Given the description of an element on the screen output the (x, y) to click on. 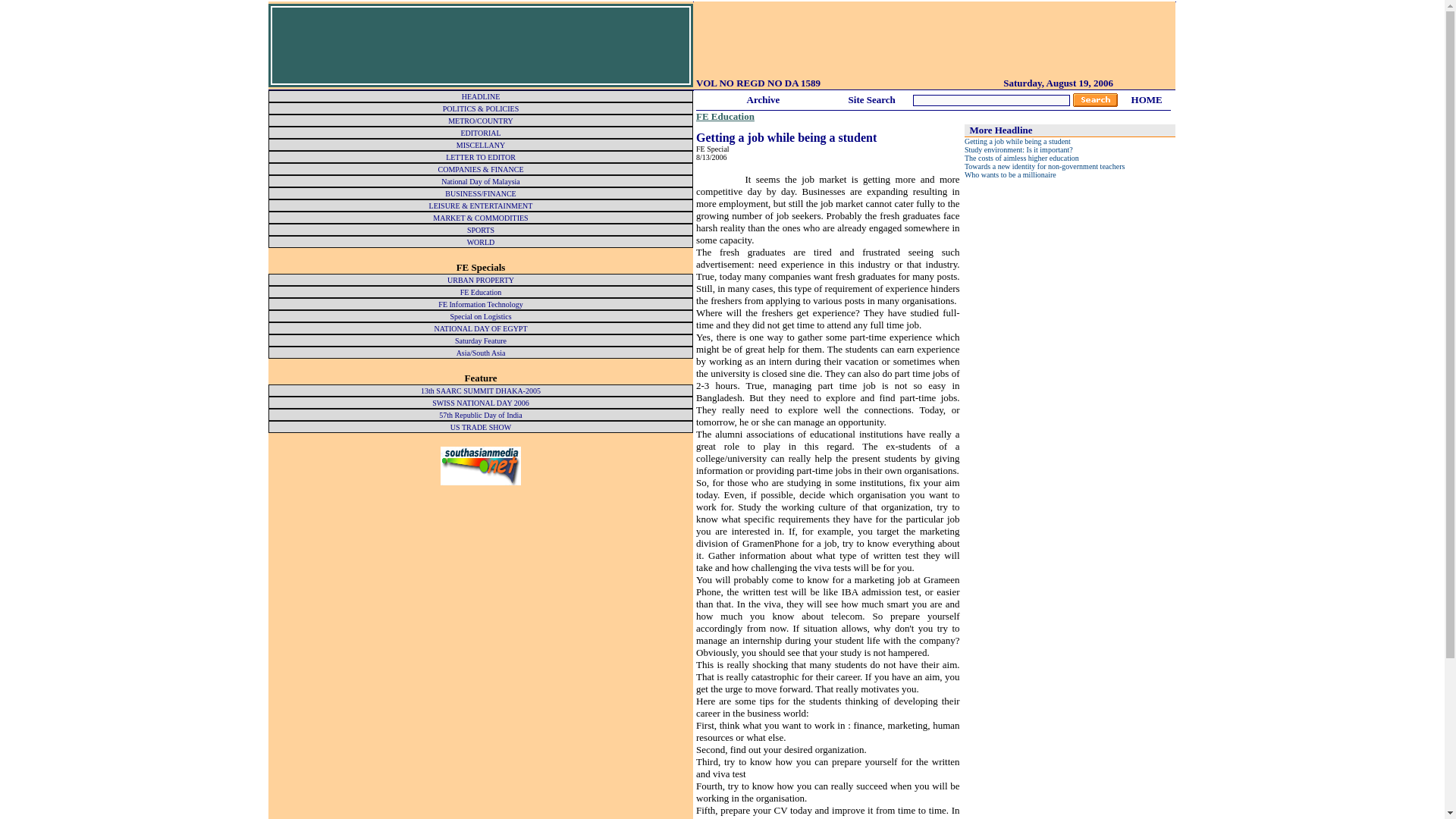
HEADLINE (480, 96)
LETTER TO EDITOR (480, 157)
Special on Logistics (480, 316)
MISCELLANY (481, 144)
The costs of aimless higher education (1020, 157)
National Day of Malaysia (480, 181)
SPORTS (481, 230)
57th Republic Day of India (480, 415)
Saturday Feature (480, 340)
Getting a job while being a student (1016, 141)
Study environment: Is it important? (1018, 149)
EDITORIAL (480, 132)
SWISS NATIONAL DAY 2006 (480, 402)
NATIONAL DAY OF EGYPT (480, 328)
Archive (763, 98)
